Given the description of an element on the screen output the (x, y) to click on. 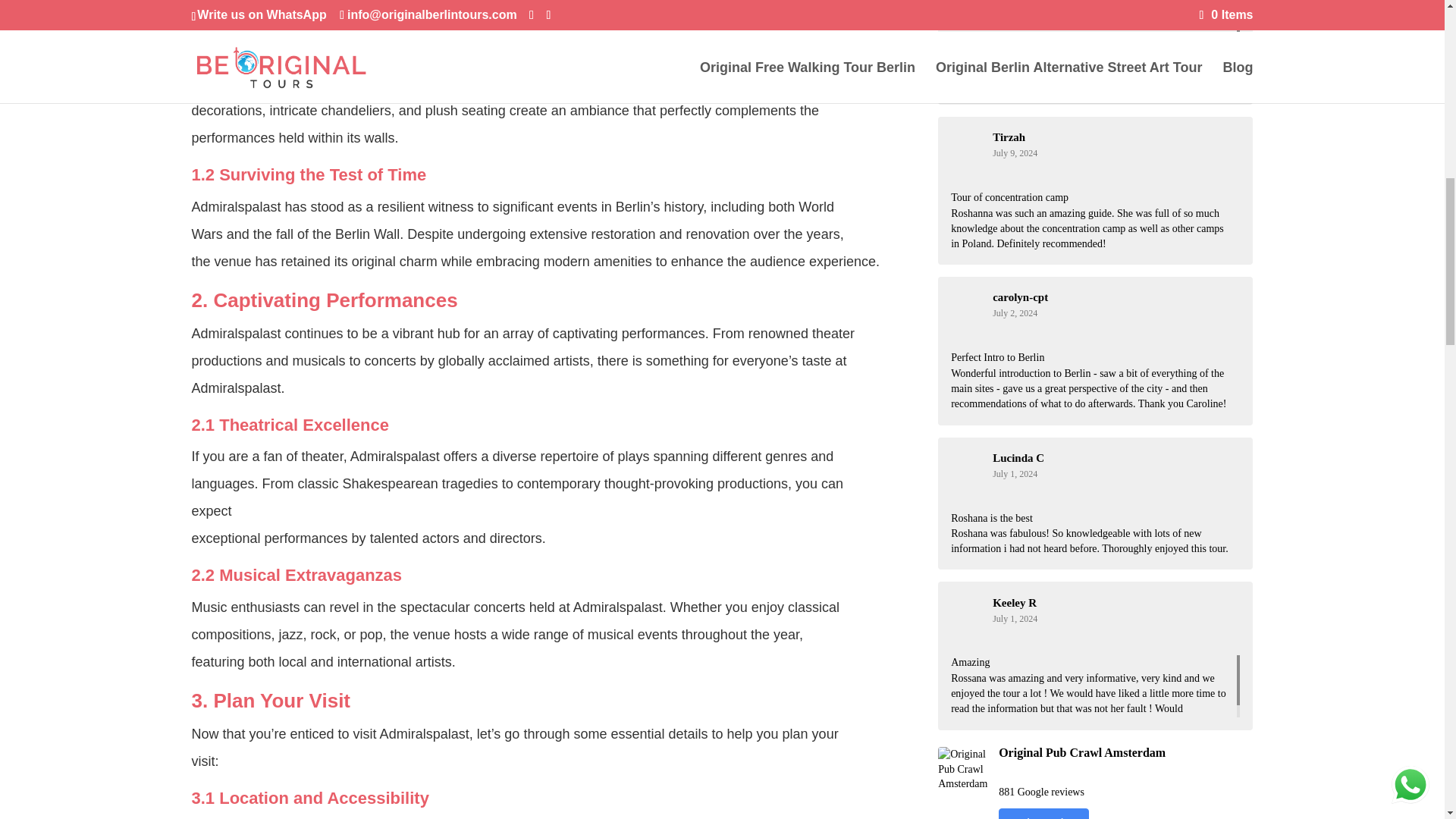
Write a review (1043, 813)
